Given the description of an element on the screen output the (x, y) to click on. 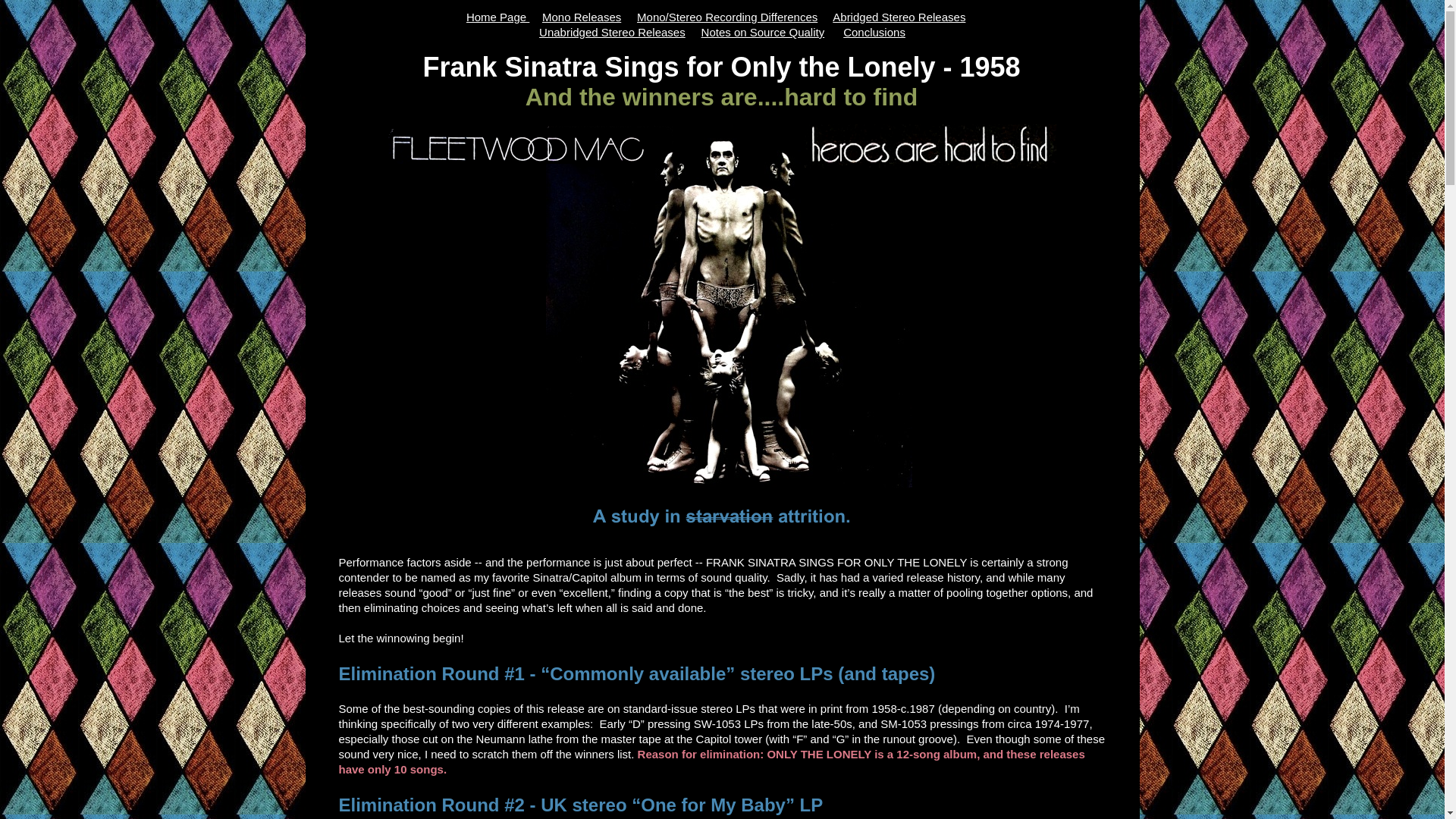
Mono/Stereo Recording Differences Element type: text (727, 16)
Abridged Stereo Releases Element type: text (898, 16)
Unabridged Stereo Releases Element type: text (612, 31)
Mono Releases Element type: text (581, 16)
Conclusions Element type: text (874, 31)
Home Page Element type: text (497, 16)
Notes on Source Quality Element type: text (763, 31)
